Given the description of an element on the screen output the (x, y) to click on. 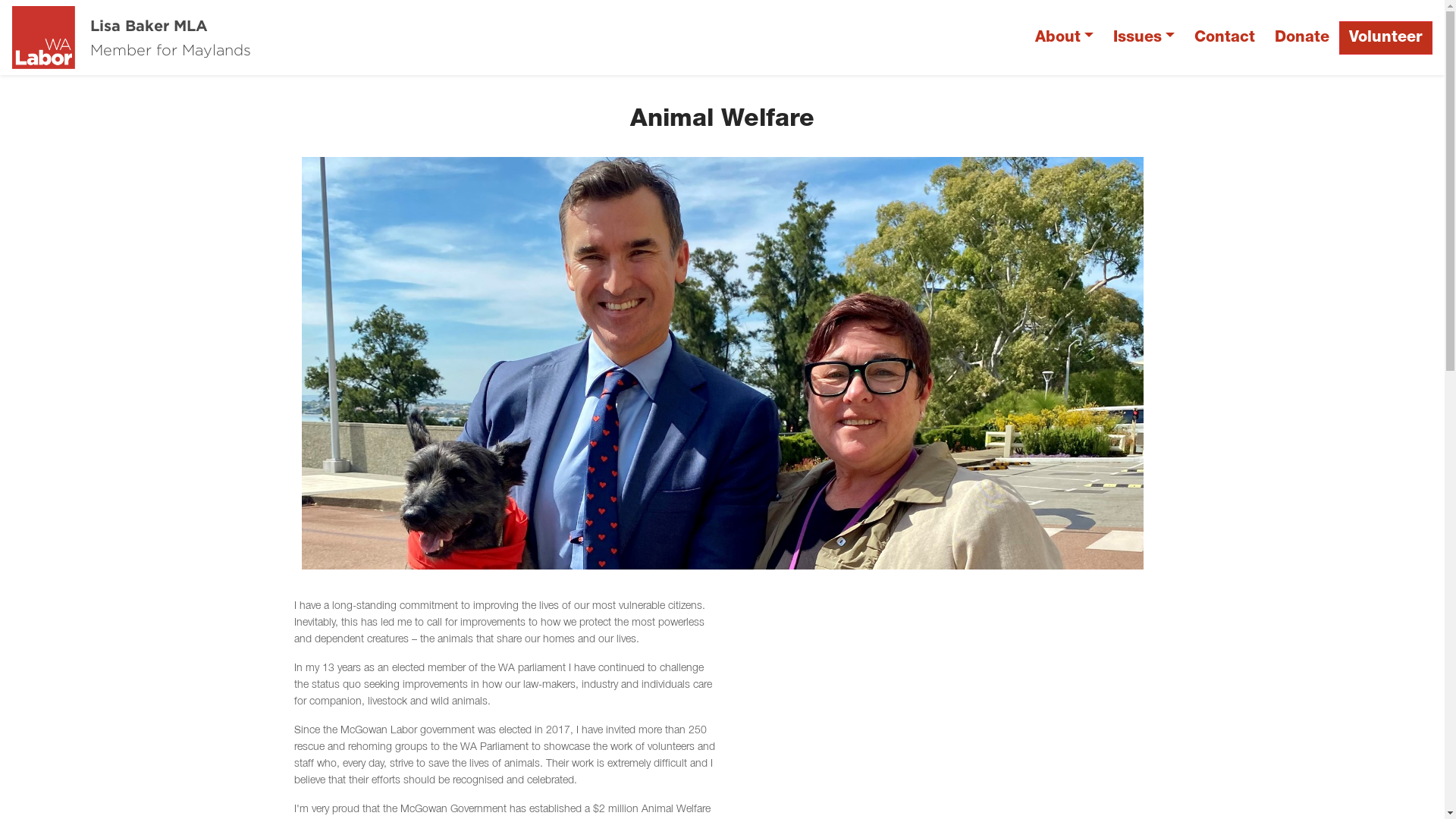
Issues Element type: text (1143, 37)
Volunteer Element type: text (1385, 37)
Contact Element type: text (1224, 37)
About Element type: text (1064, 37)
Donate Element type: text (1301, 37)
